Given the description of an element on the screen output the (x, y) to click on. 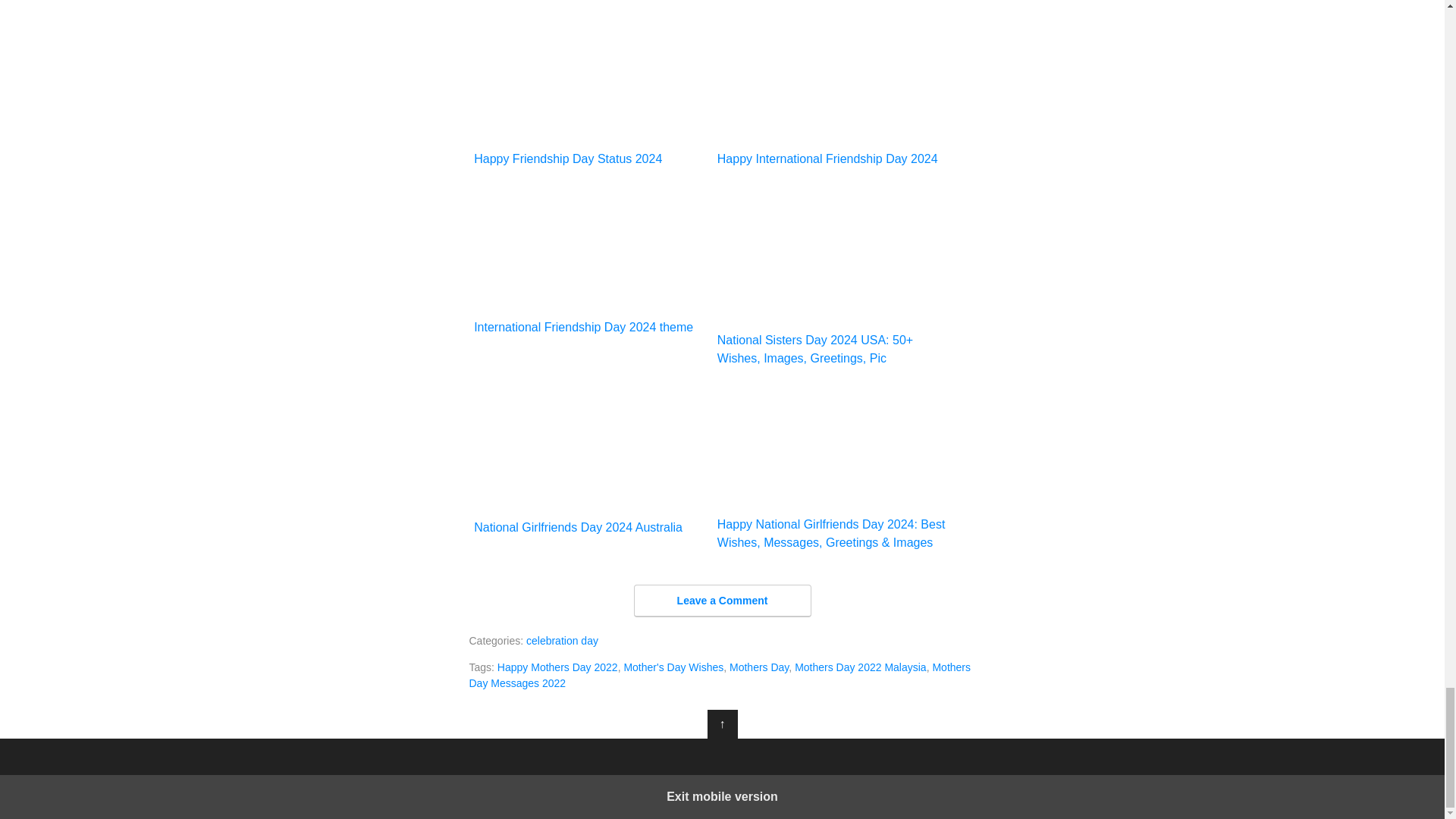
National Girlfriends Day 2024 Australia (590, 459)
Happy International Friendship Day 2024 (833, 90)
Mothers Day 2022 Malaysia (860, 666)
Mother's Day Wishes (673, 666)
International Friendship Day 2024 theme (590, 258)
Leave a Comment (721, 600)
Happy Friendship Day Status 2024 (590, 90)
celebration day (561, 640)
Happy Mothers Day 2022 (557, 666)
Mothers Day (759, 666)
Mothers Day Messages 2022 (719, 674)
